Given the description of an element on the screen output the (x, y) to click on. 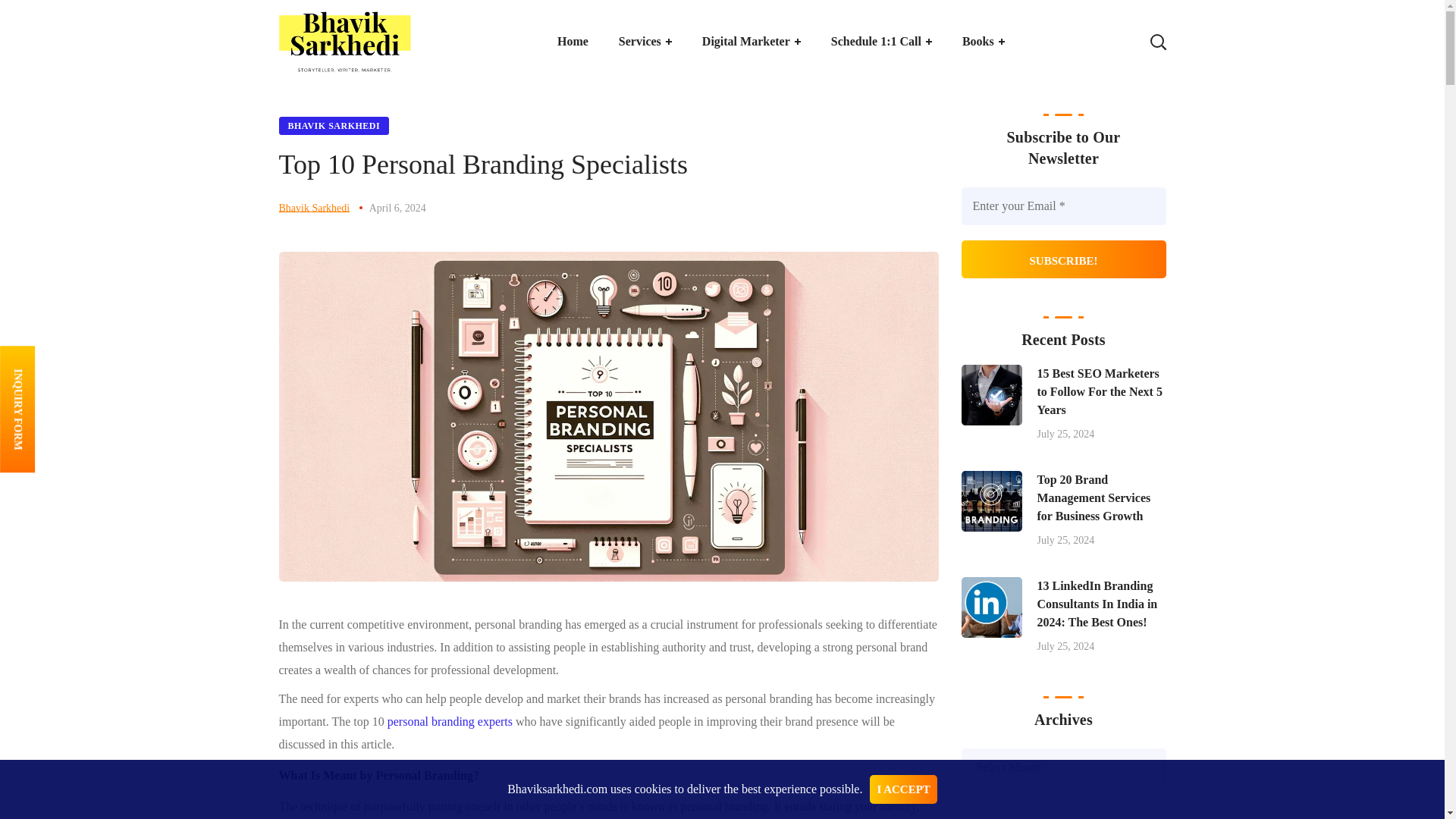
Search (1110, 113)
Digital Marketer (751, 41)
Enter your Email (1063, 206)
Schedule 1:1 Call (881, 41)
Subscribe! (1063, 259)
Services (645, 41)
